Given the description of an element on the screen output the (x, y) to click on. 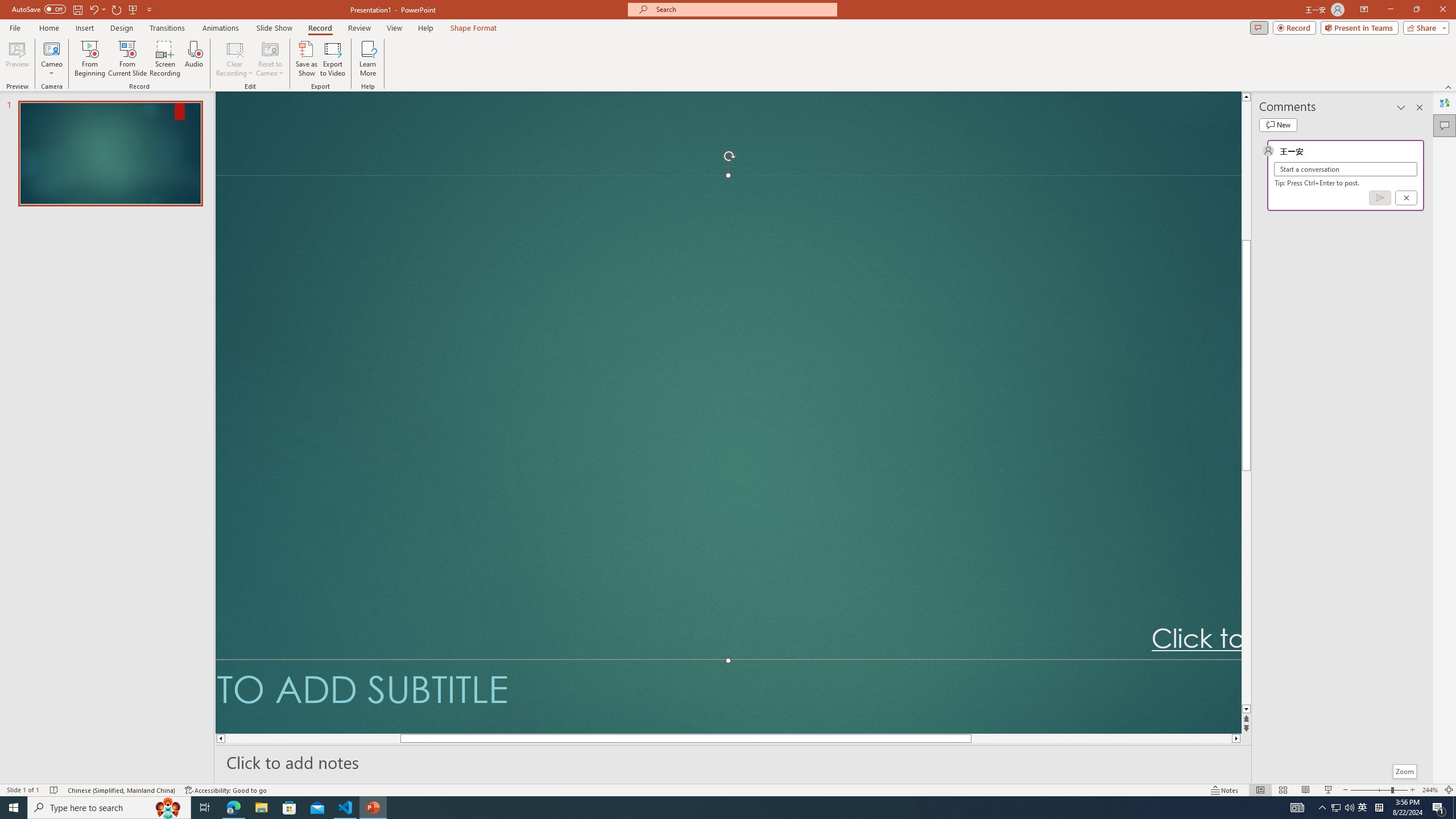
From Current Slide... (127, 58)
Microsoft search (742, 9)
Task Pane Options (1400, 107)
Shape Format (473, 28)
Line down (1245, 709)
Cancel (1405, 197)
Subtitle TextBox (728, 696)
Learn More (368, 58)
Cameo (51, 58)
